Given the description of an element on the screen output the (x, y) to click on. 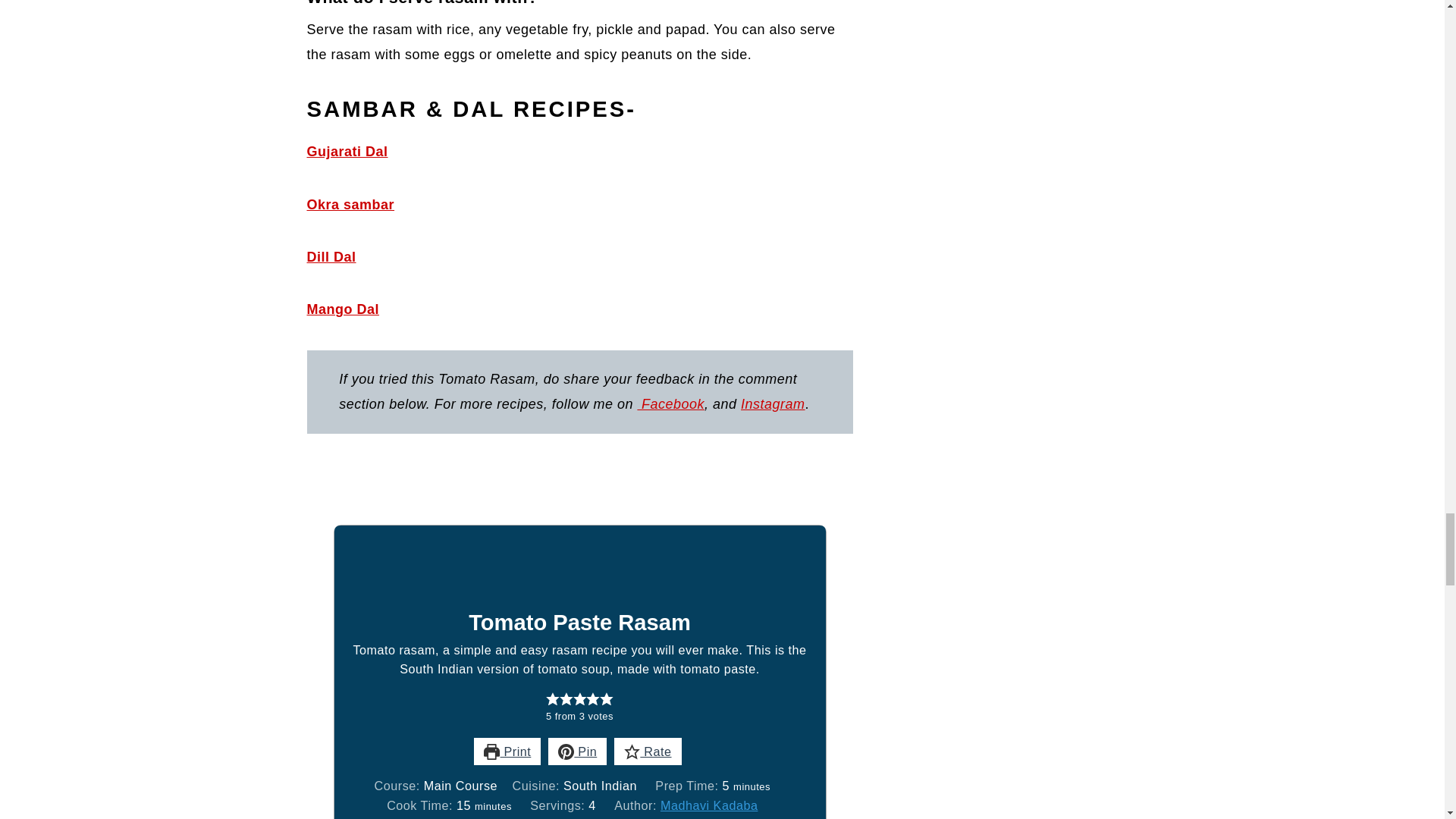
Madhavi Kadaba (709, 805)
Gujarati Dal (346, 151)
Rate (647, 750)
 Facebook (670, 403)
Pin (577, 750)
Dill Dal (330, 256)
Okra sambar (349, 204)
Instagram (773, 403)
Mango Dal (341, 309)
Print (507, 750)
